Given the description of an element on the screen output the (x, y) to click on. 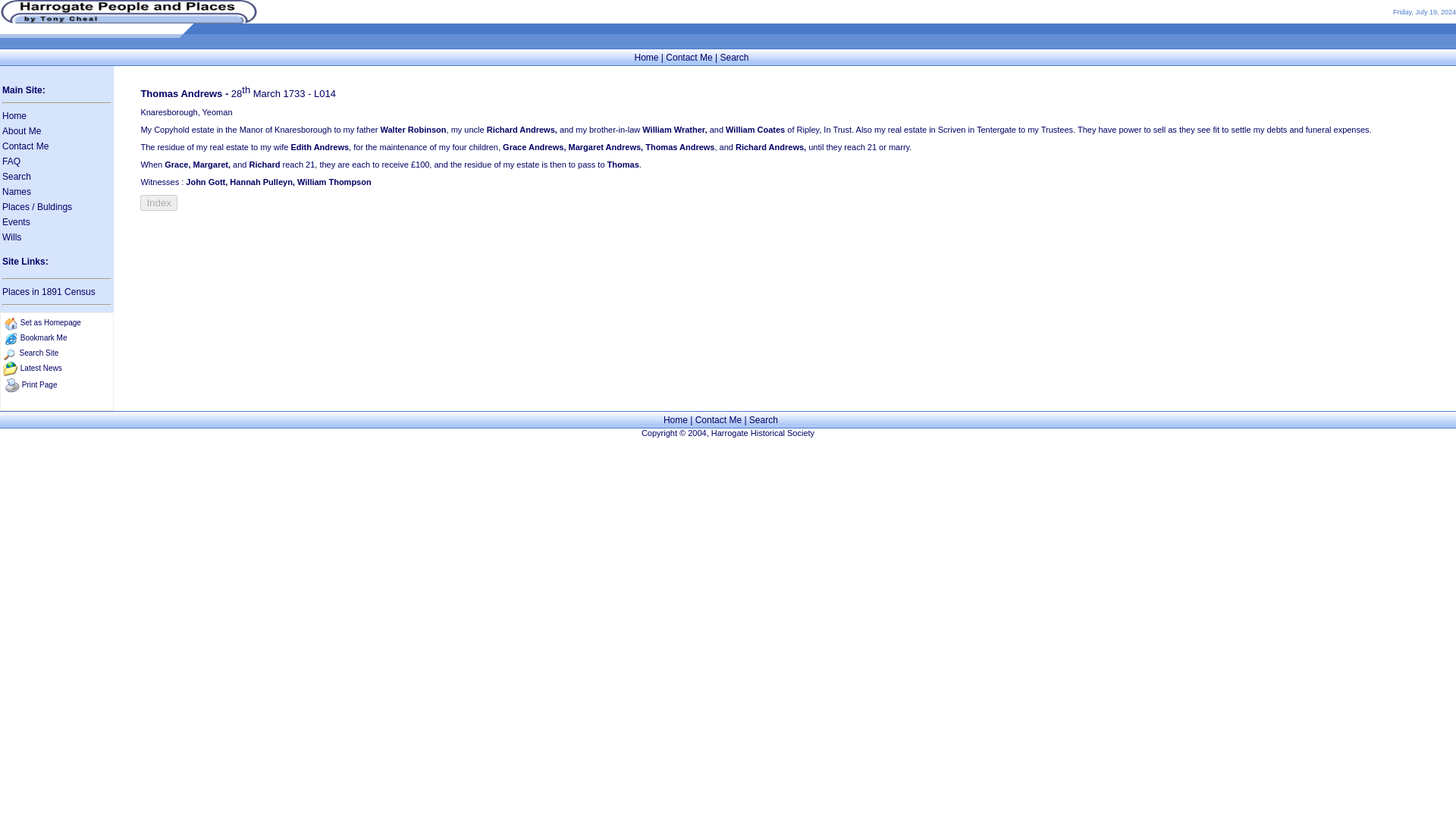
Latest News (41, 367)
Home (14, 115)
Places in 1891 Census (49, 291)
Index (158, 202)
Home (675, 419)
Events (16, 222)
Search (733, 56)
Search Site (39, 352)
Wills (11, 236)
Home (645, 56)
Names (16, 191)
Contact Me (718, 419)
Bookmark Me (43, 337)
Set as Homepage (50, 322)
Contact Me (688, 56)
